Given the description of an element on the screen output the (x, y) to click on. 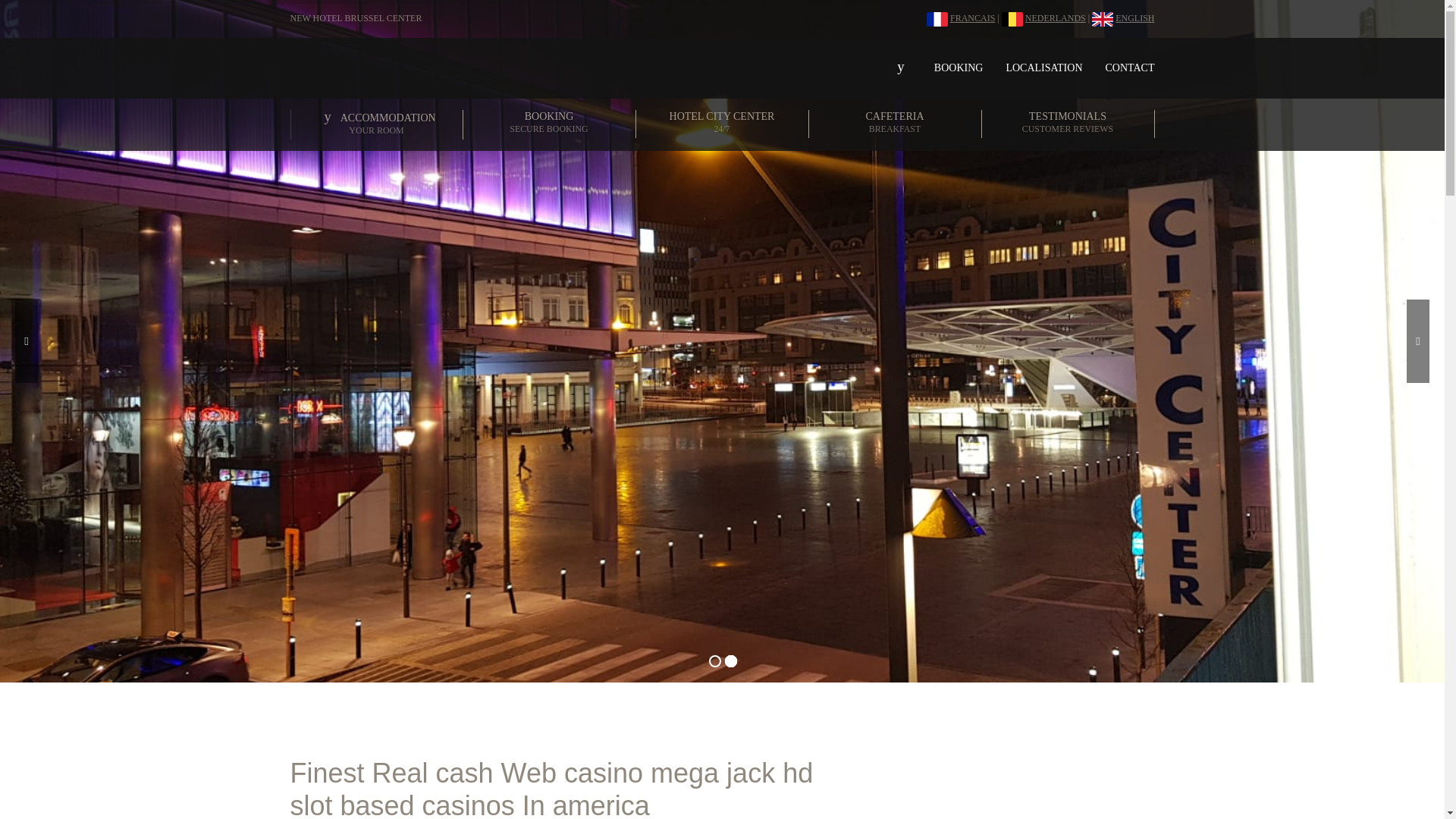
LOCALISATION (1067, 123)
FRANCAIS (1043, 67)
BOOKING (548, 123)
ENGLISH (970, 18)
NEDERLANDS (959, 67)
CONTACT (894, 123)
